Given the description of an element on the screen output the (x, y) to click on. 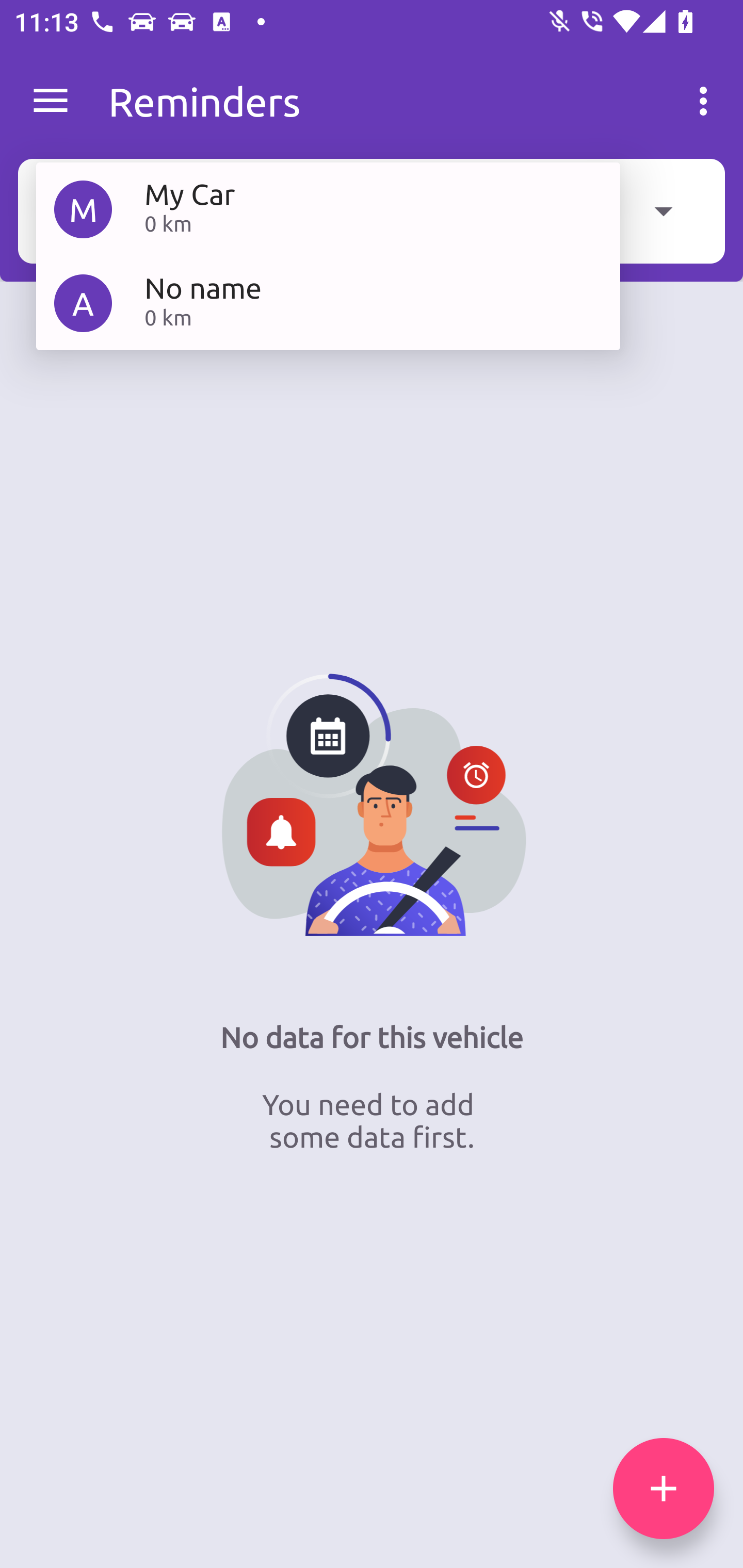
M My Car 0 km (328, 209)
A No name 0 km (328, 302)
